Given the description of an element on the screen output the (x, y) to click on. 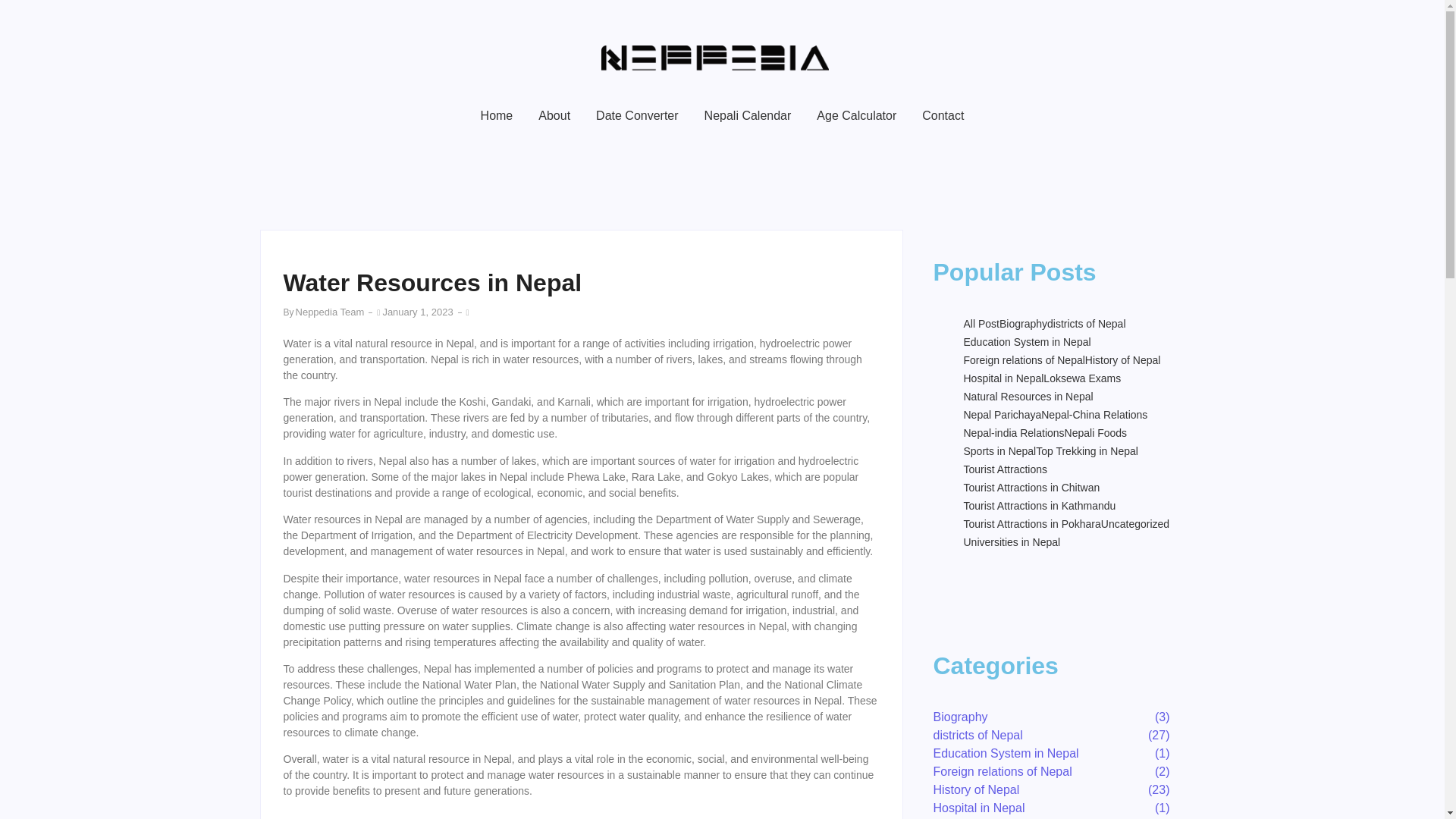
Date Converter (637, 116)
Neppedia Team (330, 311)
About (553, 116)
Home (497, 116)
Contact (943, 116)
Age Calculator (855, 116)
Nepali Calendar (747, 116)
